Given the description of an element on the screen output the (x, y) to click on. 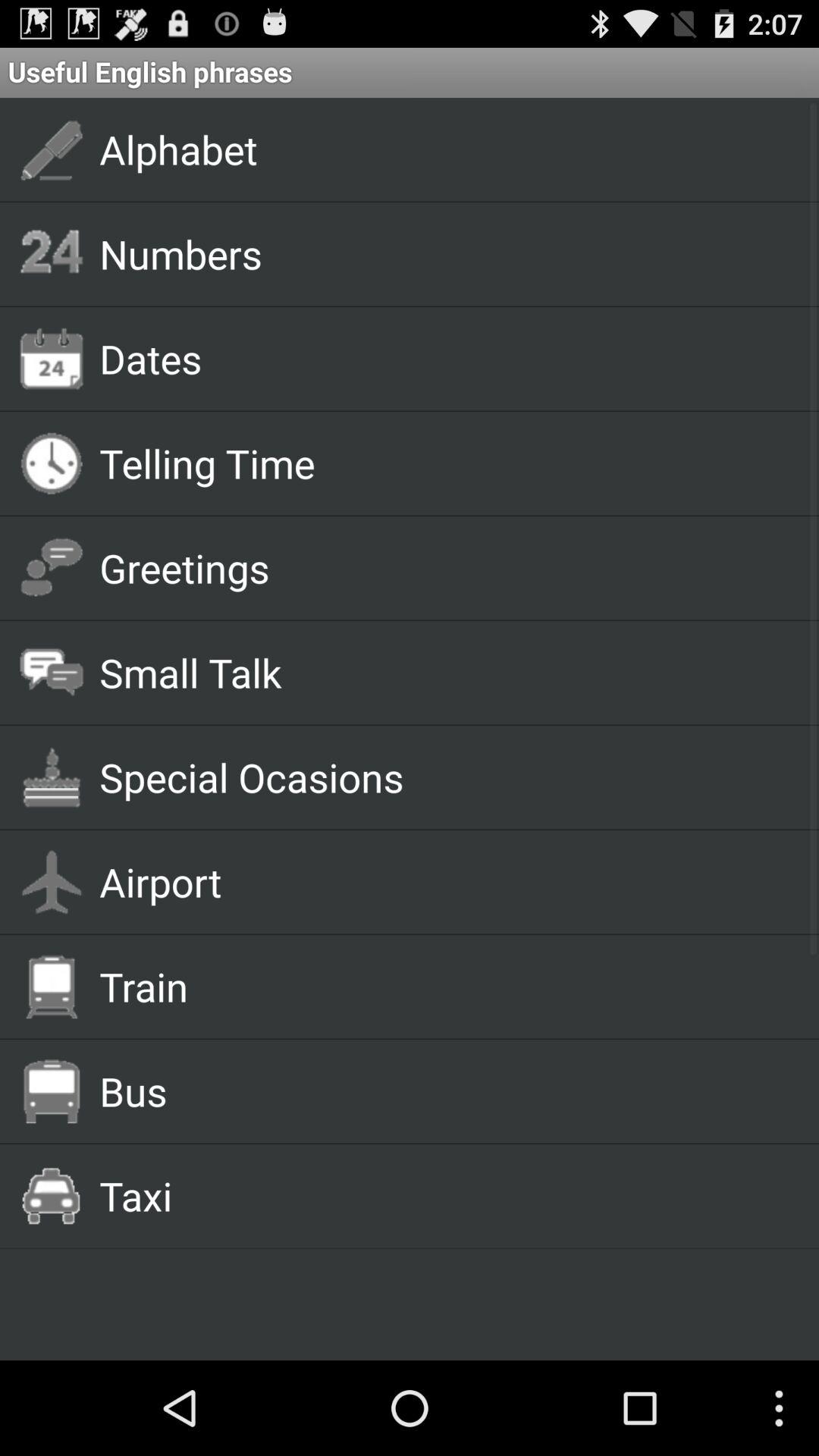
tap the dates (441, 358)
